Given the description of an element on the screen output the (x, y) to click on. 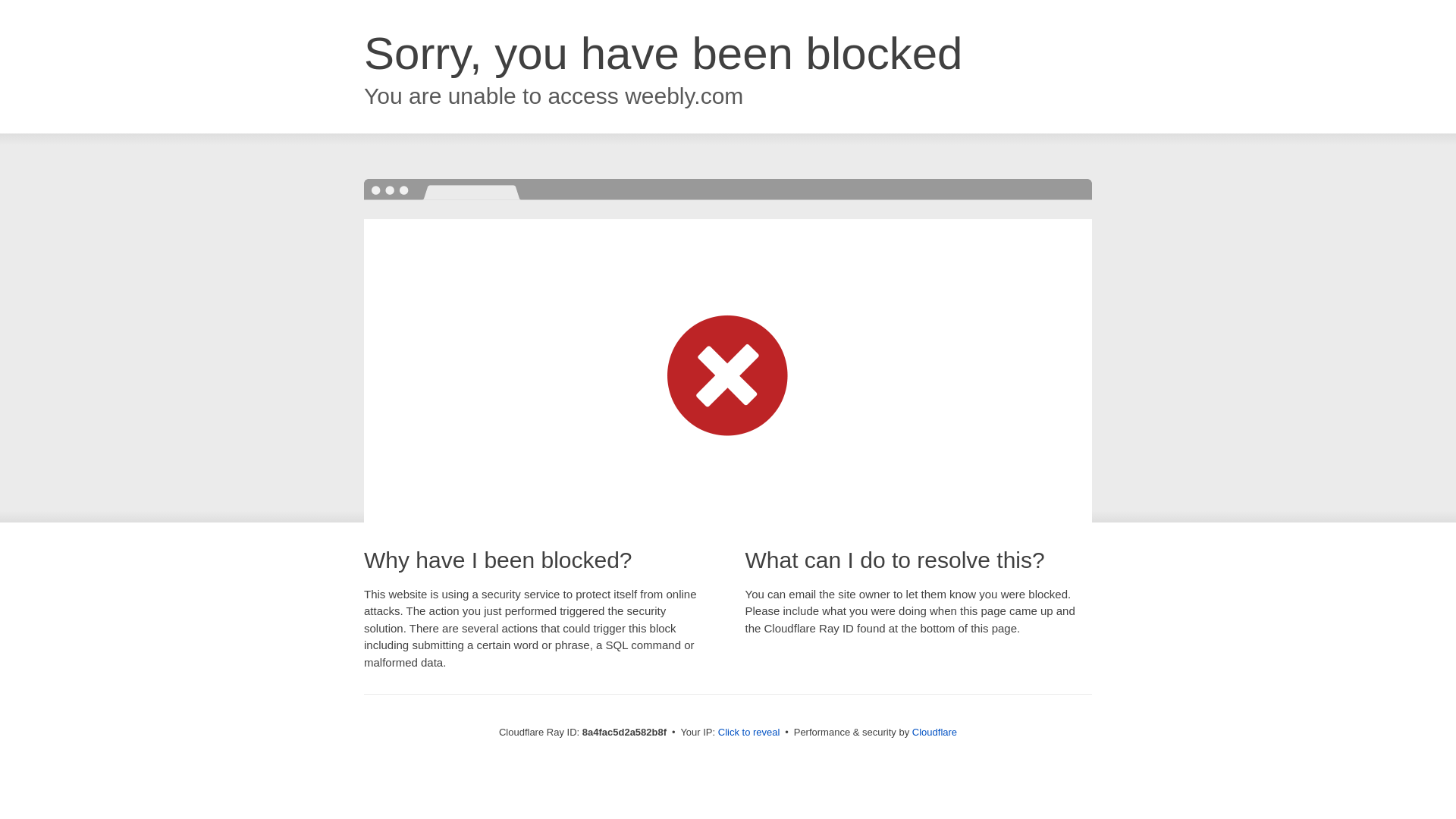
Click to reveal (748, 732)
Cloudflare (934, 731)
